Given the description of an element on the screen output the (x, y) to click on. 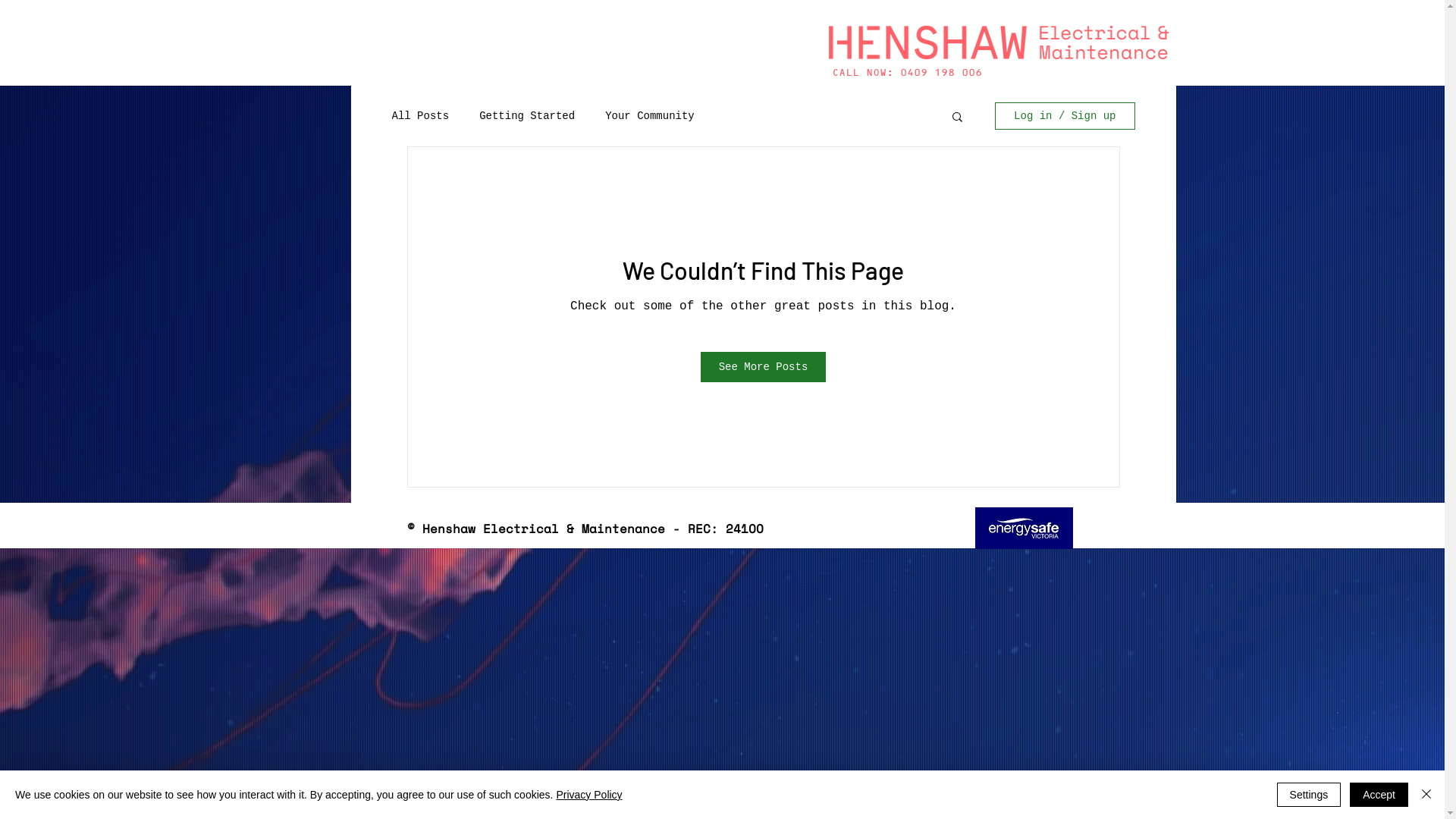
Accept Element type: text (1378, 794)
REC: 24100 Element type: hover (1024, 528)
Your Community Element type: text (649, 115)
All Posts Element type: text (419, 115)
Privacy Policy Element type: text (588, 794)
See More Posts Element type: text (763, 366)
Log in / Sign up Element type: text (1064, 115)
CALL NOW: 0409 198 006 Element type: text (906, 72)
Getting Started Element type: text (526, 115)
Settings Element type: text (1309, 794)
